Given the description of an element on the screen output the (x, y) to click on. 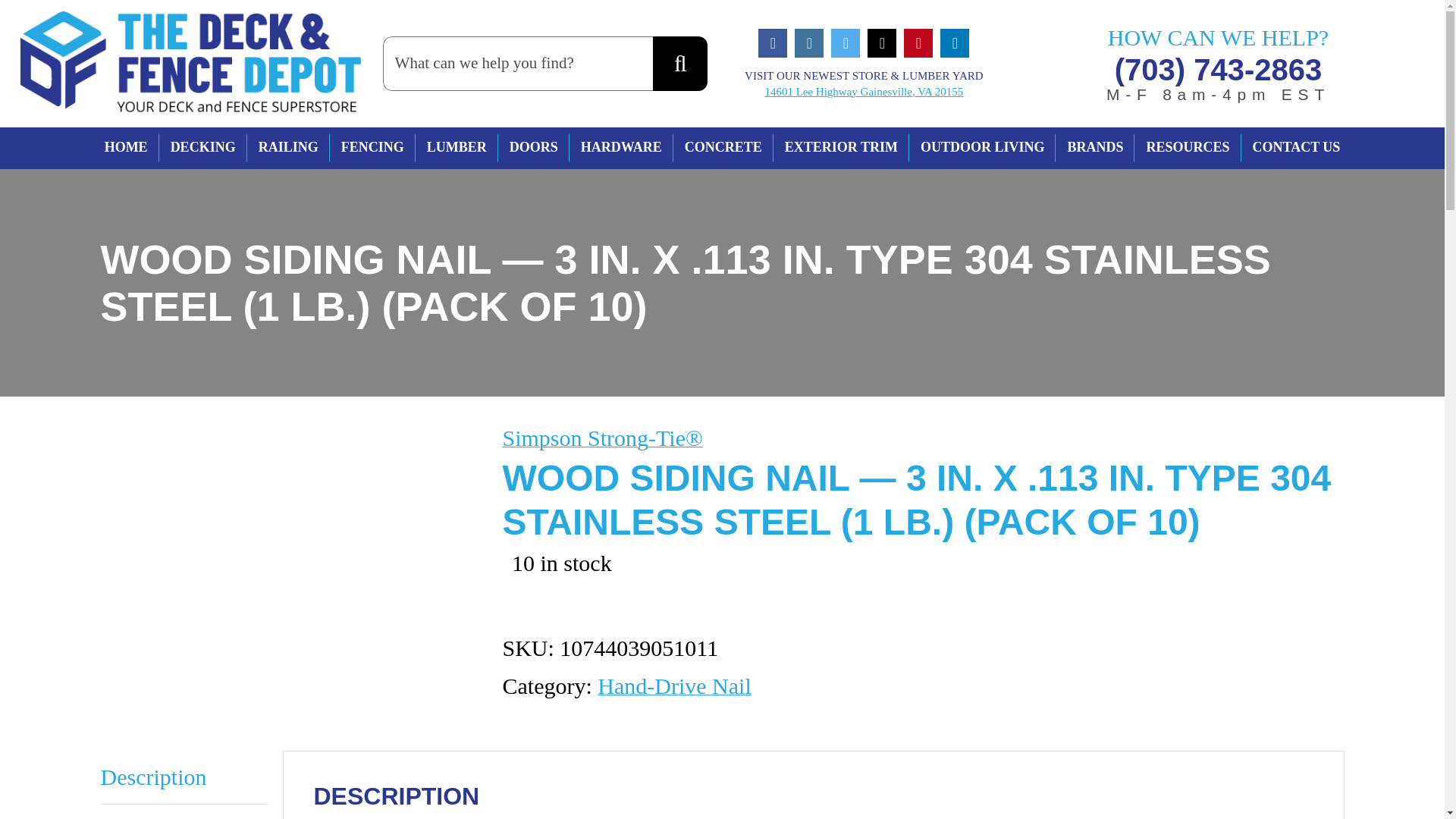
Tiktok (881, 42)
Instagram (809, 42)
14601 Lee Highway Gainesville, VA 20155 (863, 91)
Twitter (845, 42)
LinkedIn (954, 42)
DECKING (203, 147)
View brand (601, 438)
Pinterest (918, 42)
HOME (126, 147)
Facebook (772, 42)
